Given the description of an element on the screen output the (x, y) to click on. 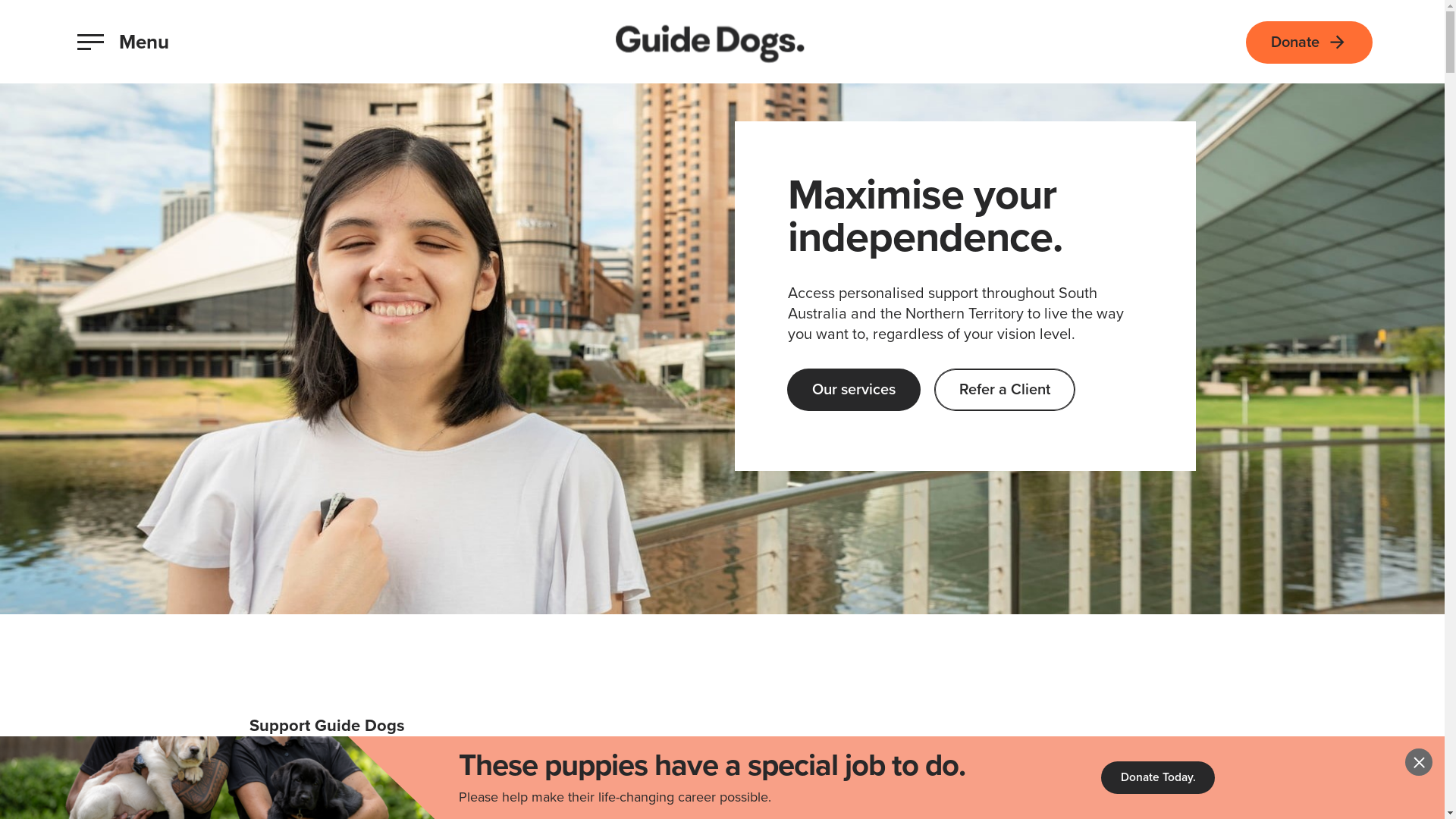
Our services Element type: text (853, 389)
Donate Today. Element type: text (1157, 777)
Refer a Client Element type: text (1003, 389)
Menu Element type: text (122, 42)
Donate Element type: text (1308, 41)
